Given the description of an element on the screen output the (x, y) to click on. 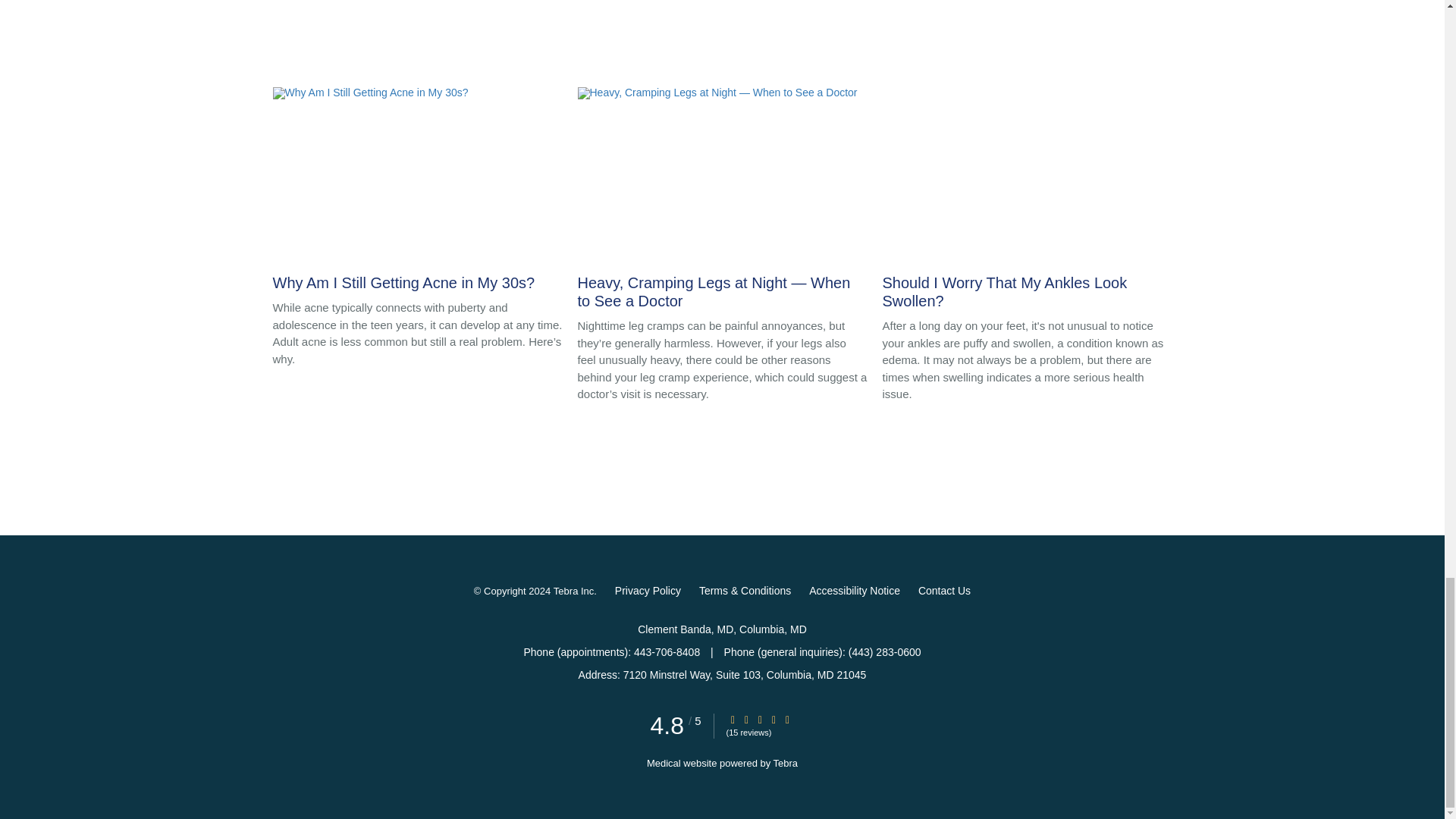
Star Rating (733, 719)
Star Rating (760, 719)
Star Rating (788, 719)
Star Rating (746, 719)
Star Rating (773, 719)
